Given the description of an element on the screen output the (x, y) to click on. 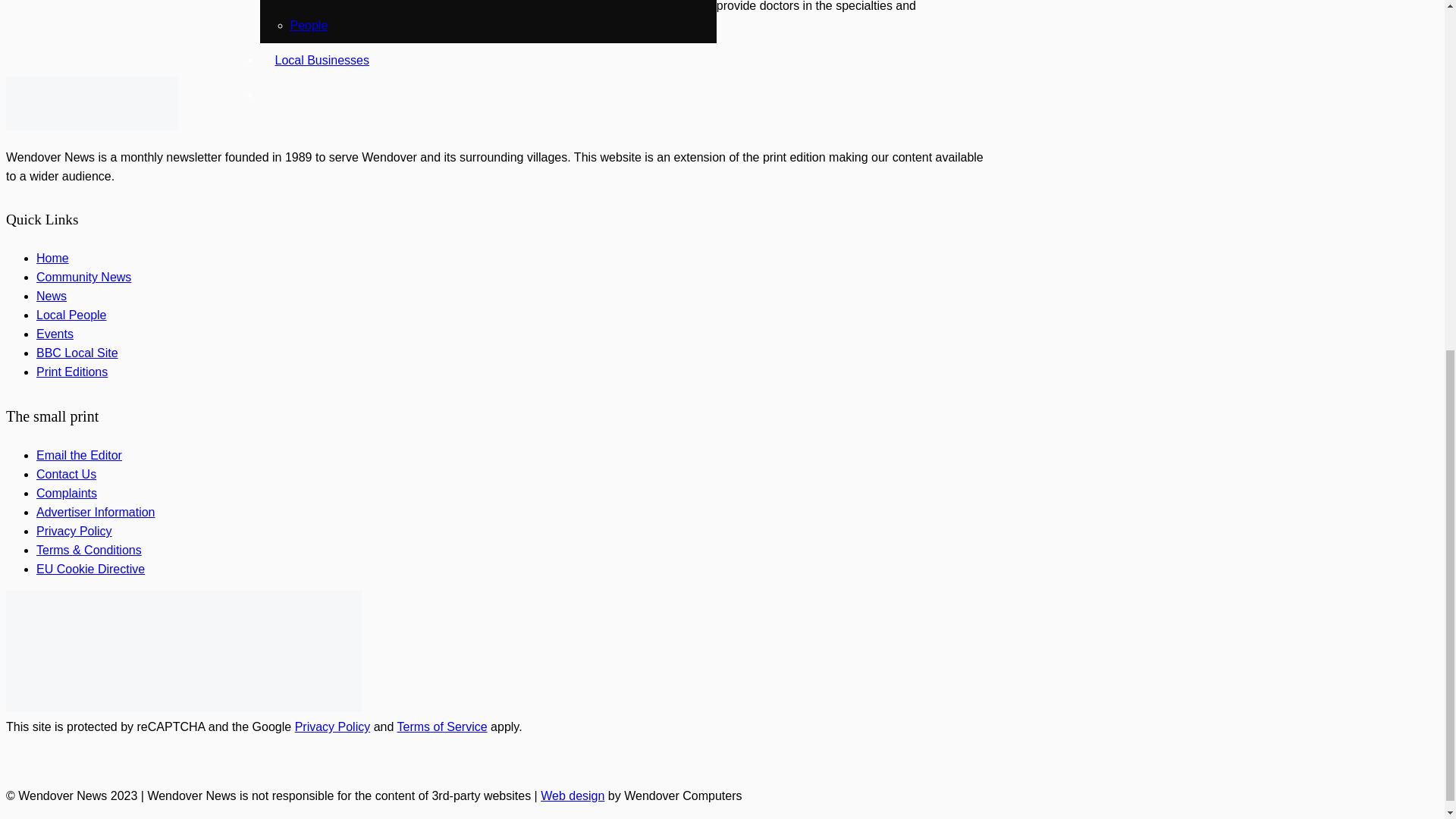
Home (52, 257)
Community News (83, 277)
Local Businesses (321, 60)
People (308, 24)
